Given the description of an element on the screen output the (x, y) to click on. 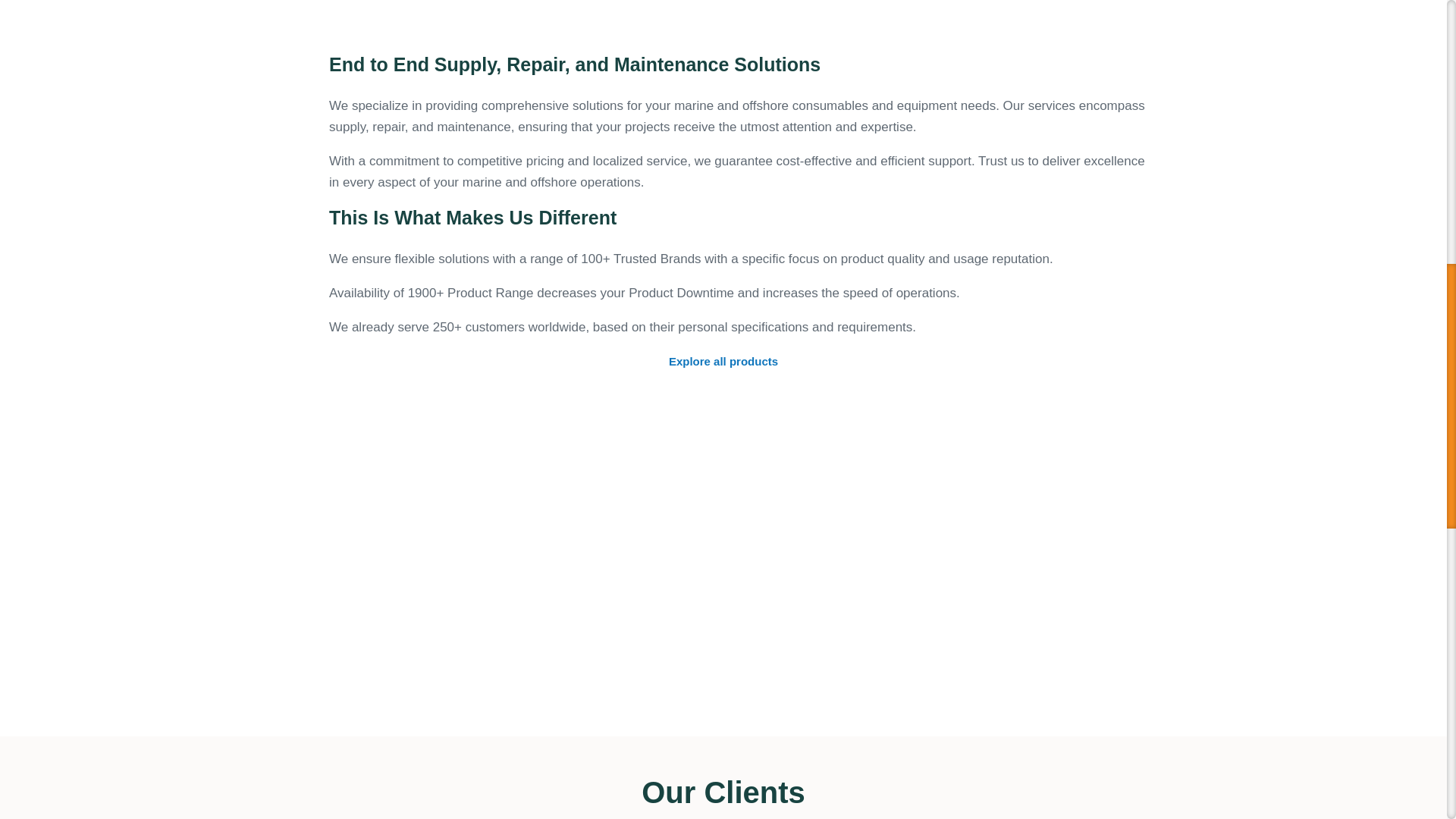
Explore all products (722, 361)
